Given the description of an element on the screen output the (x, y) to click on. 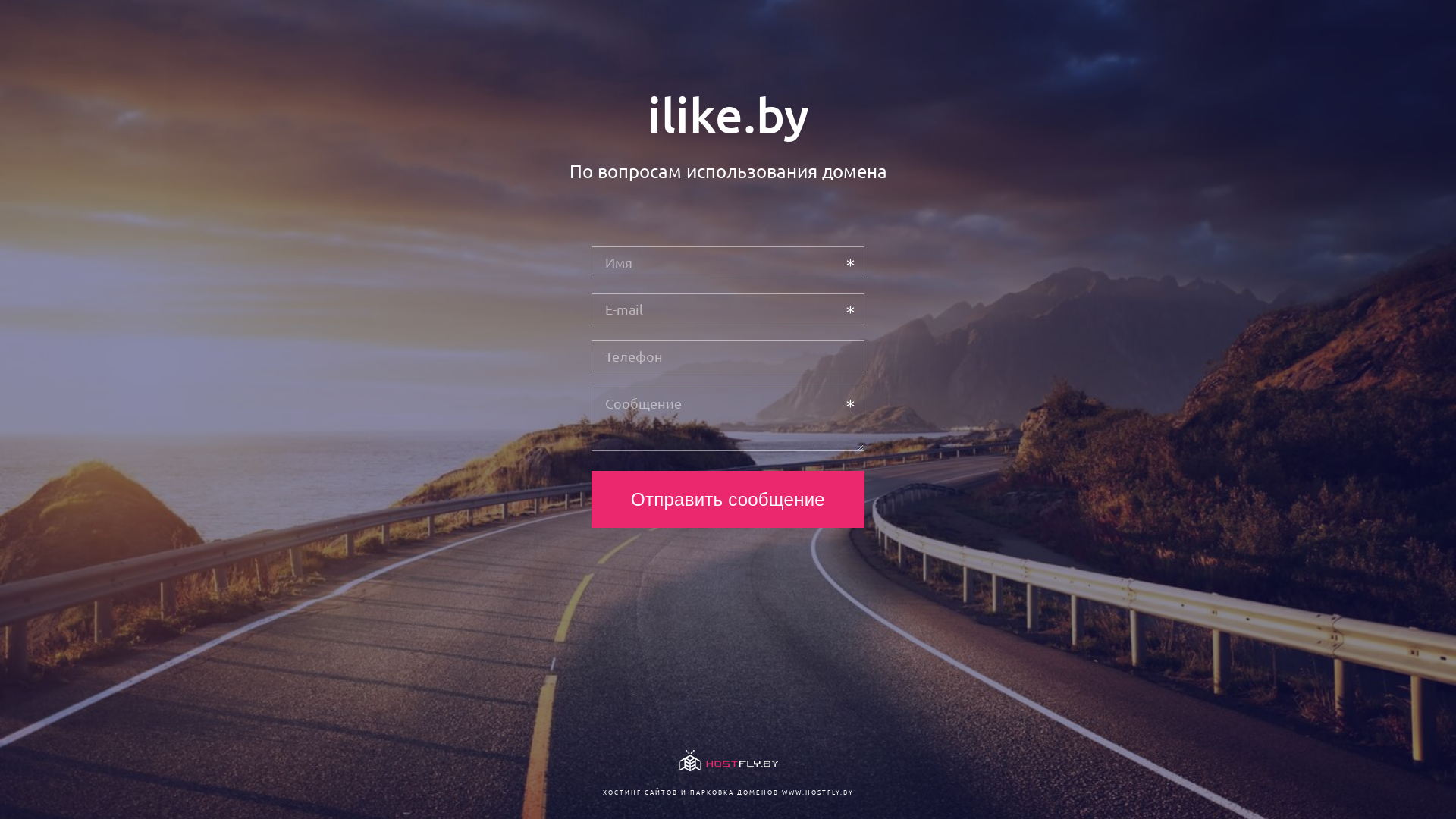
WWW.HOSTFLY.BY Element type: text (817, 791)
